Given the description of an element on the screen output the (x, y) to click on. 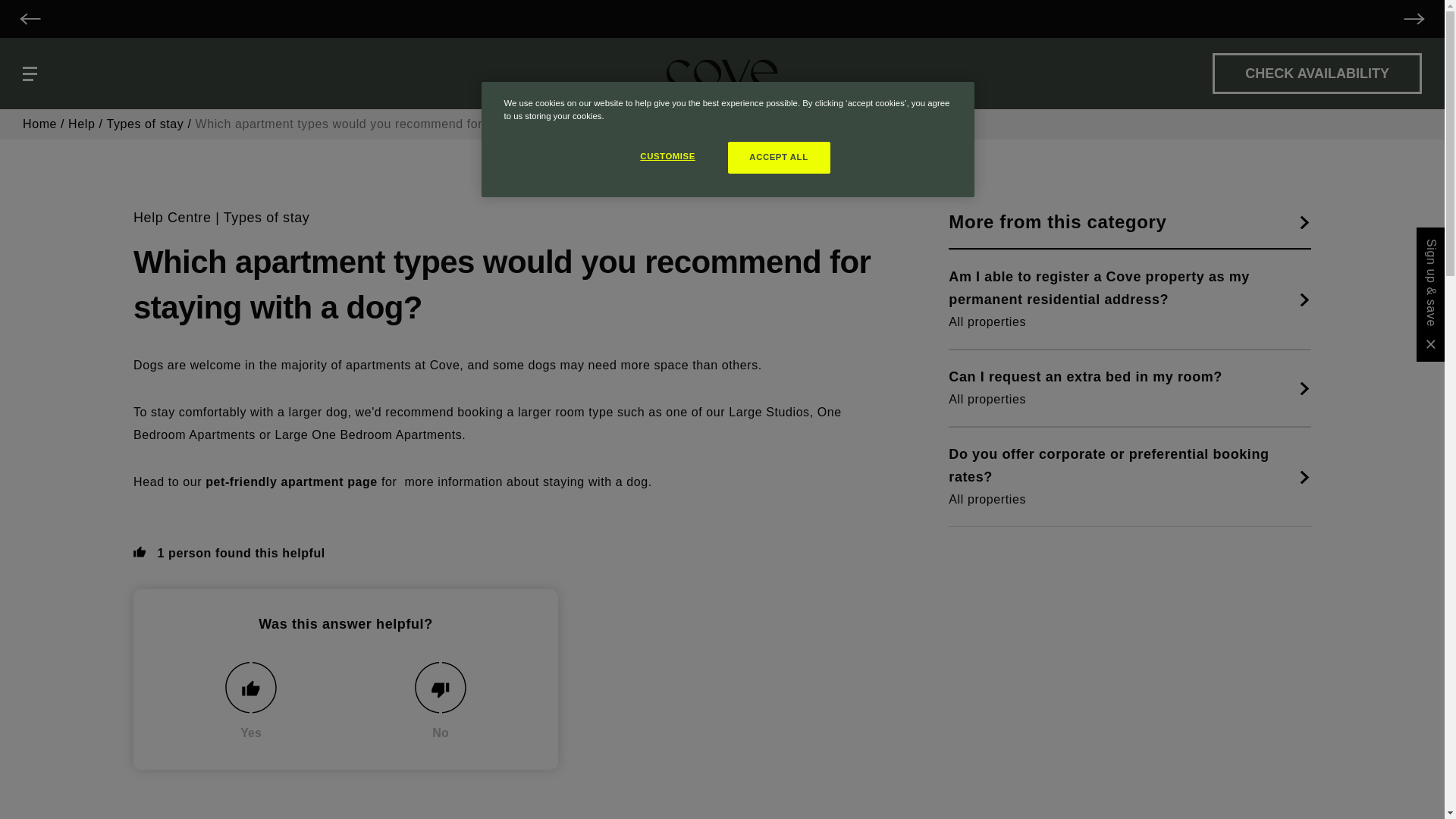
CHECK AVAILABILITY (1317, 73)
Help Centre (172, 217)
More from this category (1130, 222)
Types of stay (267, 217)
pet-friendly apartment page (291, 481)
Home (39, 124)
Types of stay (144, 124)
Help (81, 124)
